Given the description of an element on the screen output the (x, y) to click on. 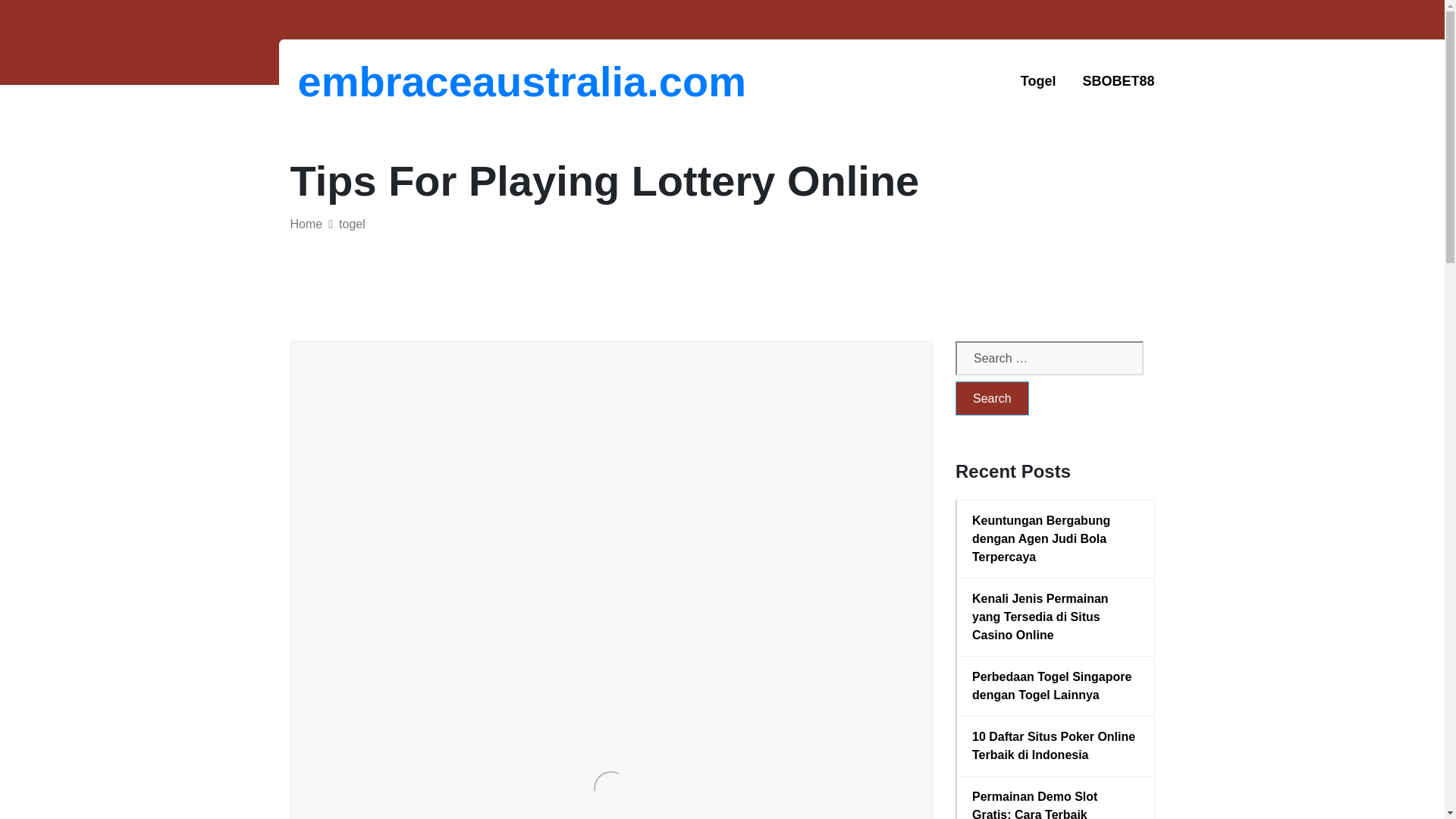
Kenali Jenis Permainan yang Tersedia di Situs Casino Online (1055, 616)
Search (992, 398)
Search (992, 398)
10 Daftar Situs Poker Online Terbaik di Indonesia (1055, 746)
embraceaustralia.com (376, 81)
Tips For Playing Lottery Online (528, 423)
togel (352, 223)
Keuntungan Bergabung dengan Agen Judi Bola Terpercaya (1055, 538)
Perbedaan Togel Singapore dengan Togel Lainnya (1055, 686)
Search (992, 398)
